Given the description of an element on the screen output the (x, y) to click on. 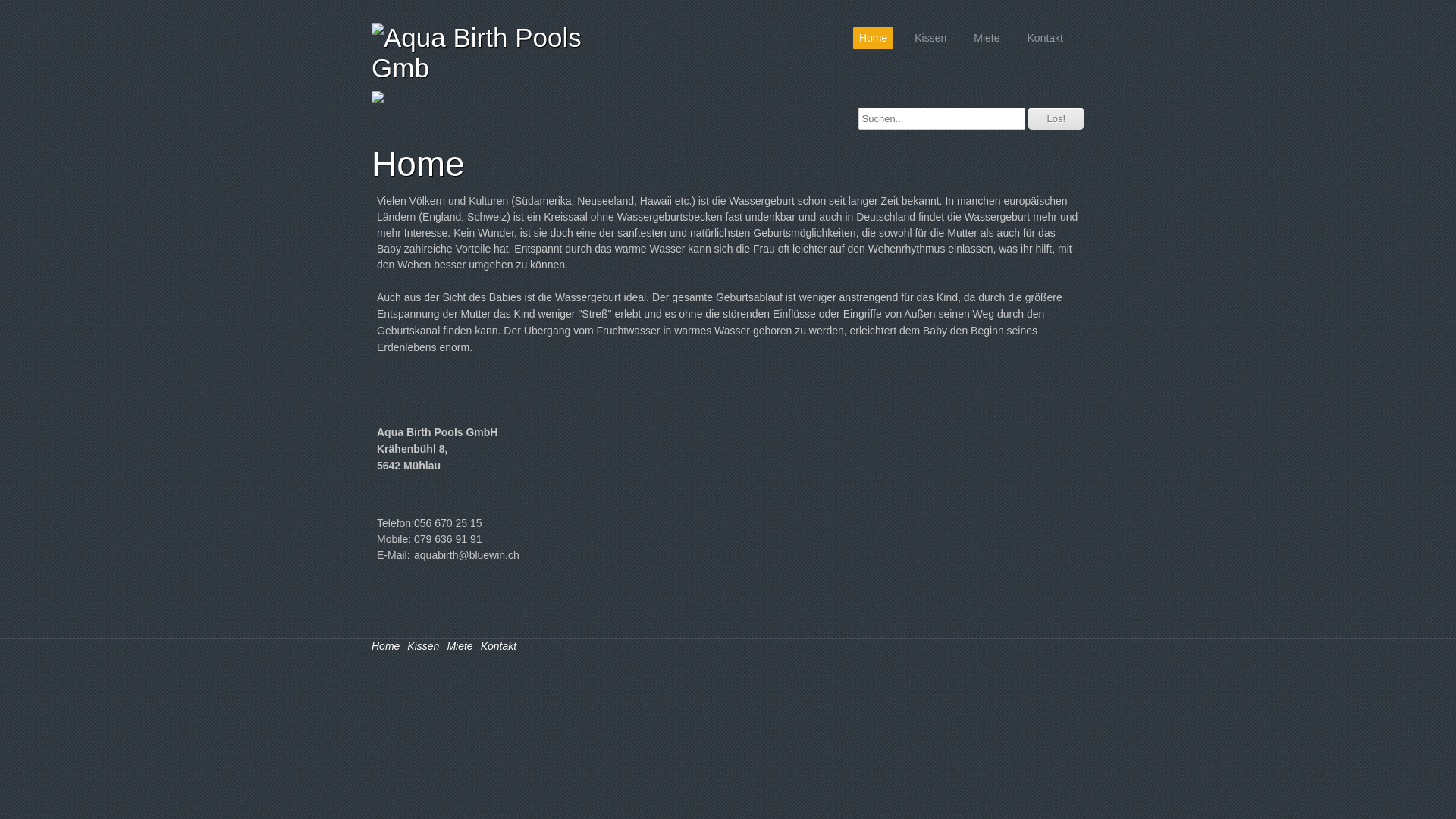
Los! Element type: text (1055, 118)
Home Element type: text (873, 37)
Kontakt Element type: text (1045, 37)
Home Element type: text (385, 646)
Kissen Element type: text (930, 37)
Kontakt Element type: text (498, 646)
Miete Element type: text (459, 646)
Kissen Element type: text (423, 646)
Miete Element type: text (986, 37)
